Given the description of an element on the screen output the (x, y) to click on. 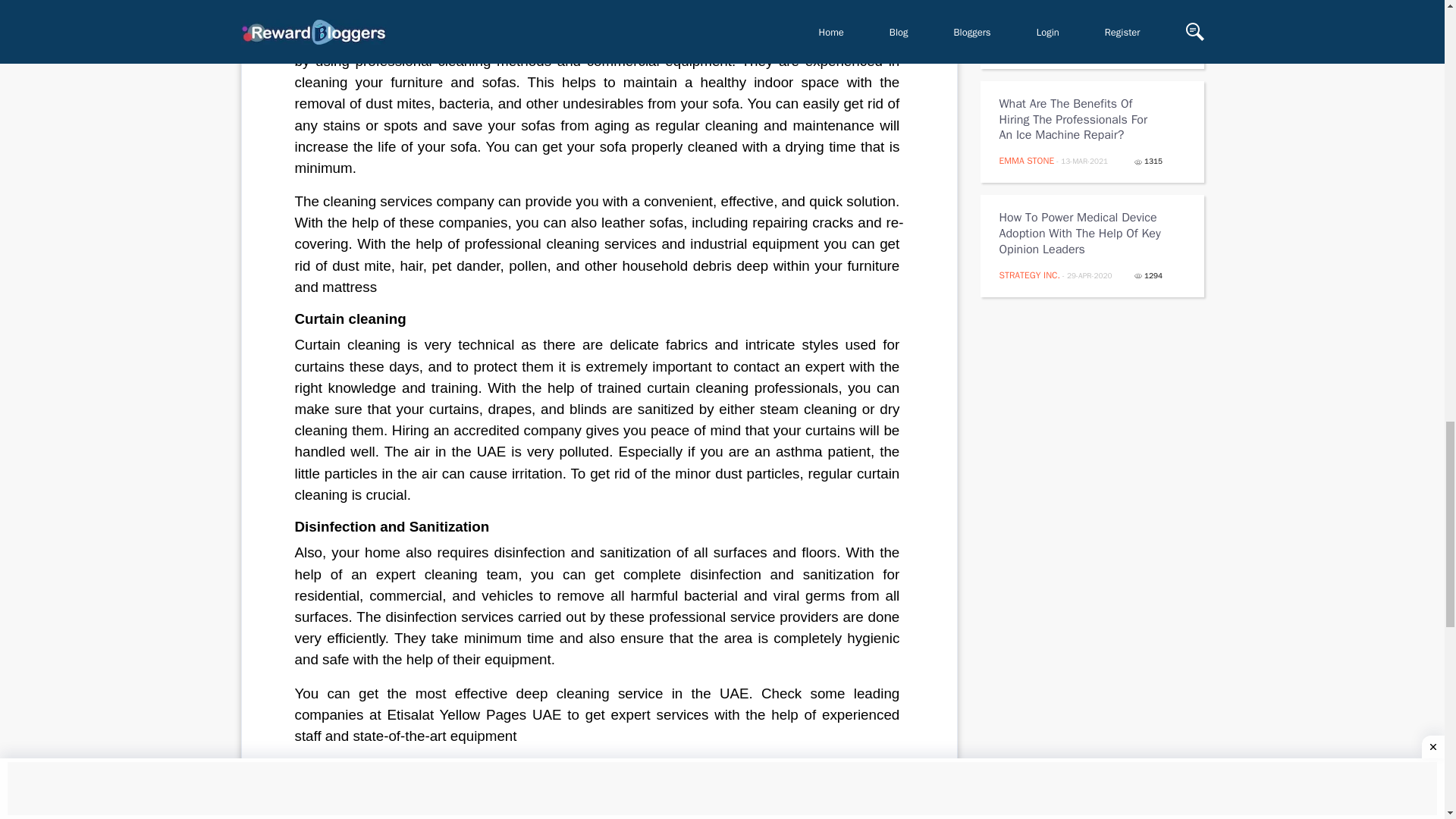
Wicked For You Club (475, 769)
STRATEGY INC. (1029, 275)
OXYGEN2CLEANAUS (1039, 46)
EMMA STONE (1026, 160)
